Given the description of an element on the screen output the (x, y) to click on. 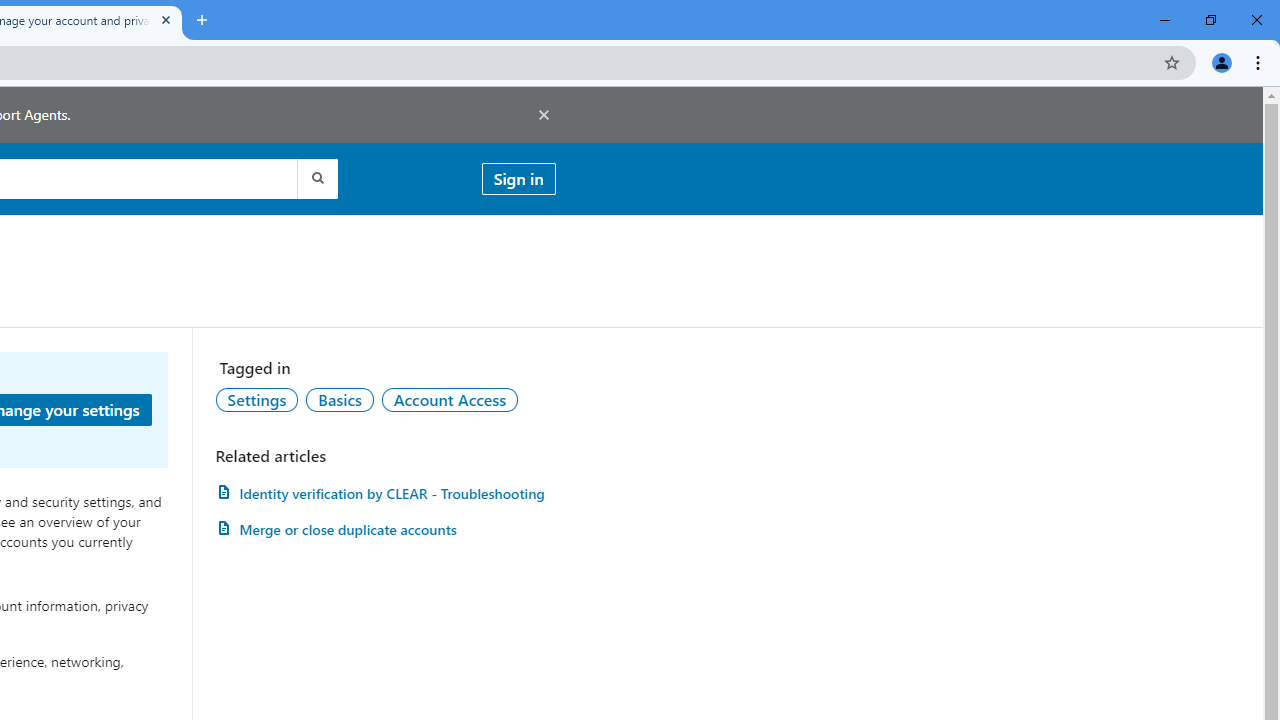
Submit search (316, 178)
AutomationID: topic-link-a51 (339, 399)
